Given the description of an element on the screen output the (x, y) to click on. 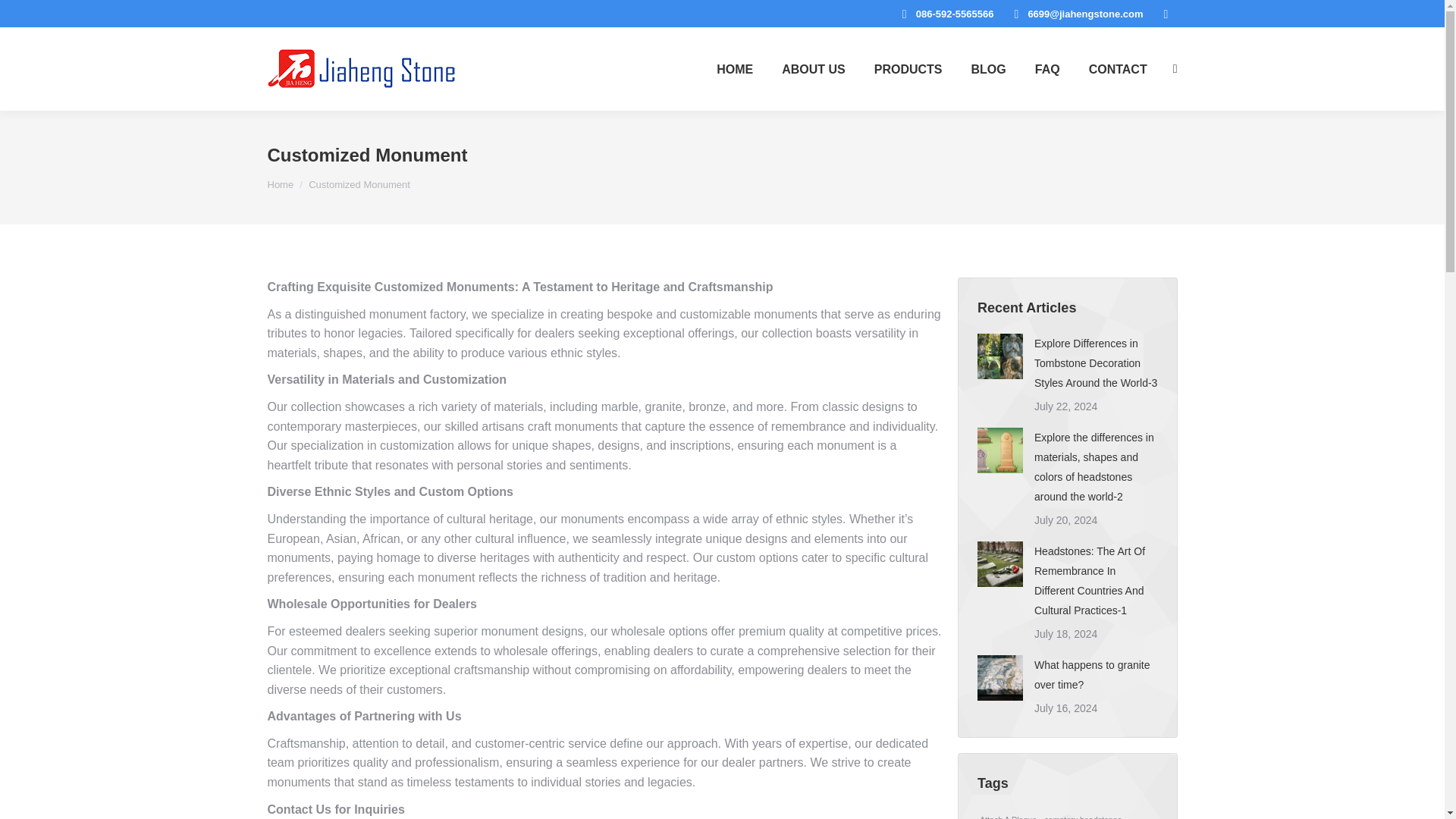
FAQ (1047, 68)
CONTACT (1117, 68)
BLOG (988, 68)
Home (280, 184)
HOME (734, 68)
ABOUT US (813, 68)
Go! (24, 16)
PRODUCTS (908, 68)
